Given the description of an element on the screen output the (x, y) to click on. 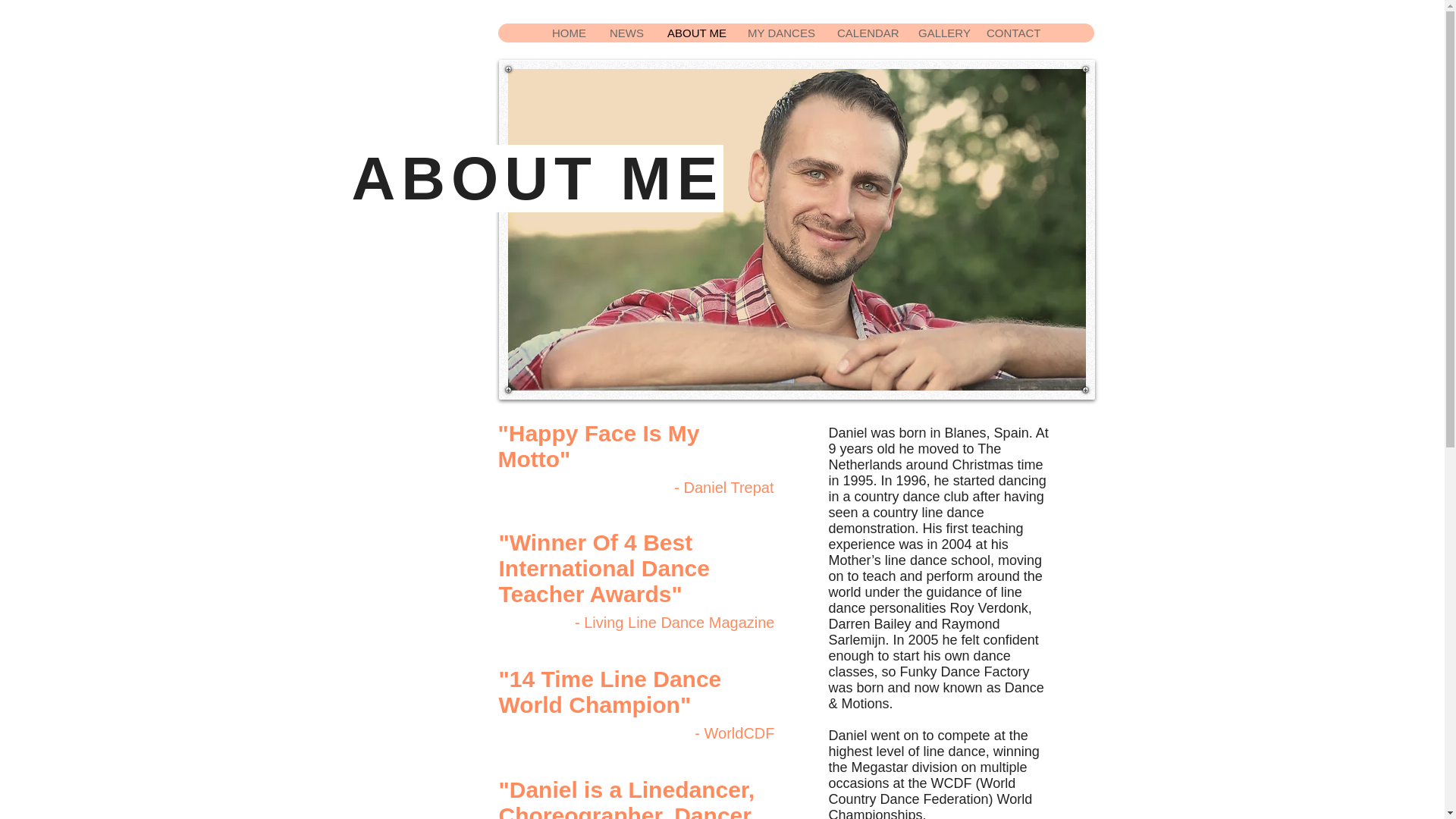
HOME (568, 32)
GALLERY (939, 32)
ABOUT ME (695, 32)
NEWS (625, 32)
MY DANCES (780, 32)
CALENDAR (865, 32)
CONTACT (1012, 32)
